Given the description of an element on the screen output the (x, y) to click on. 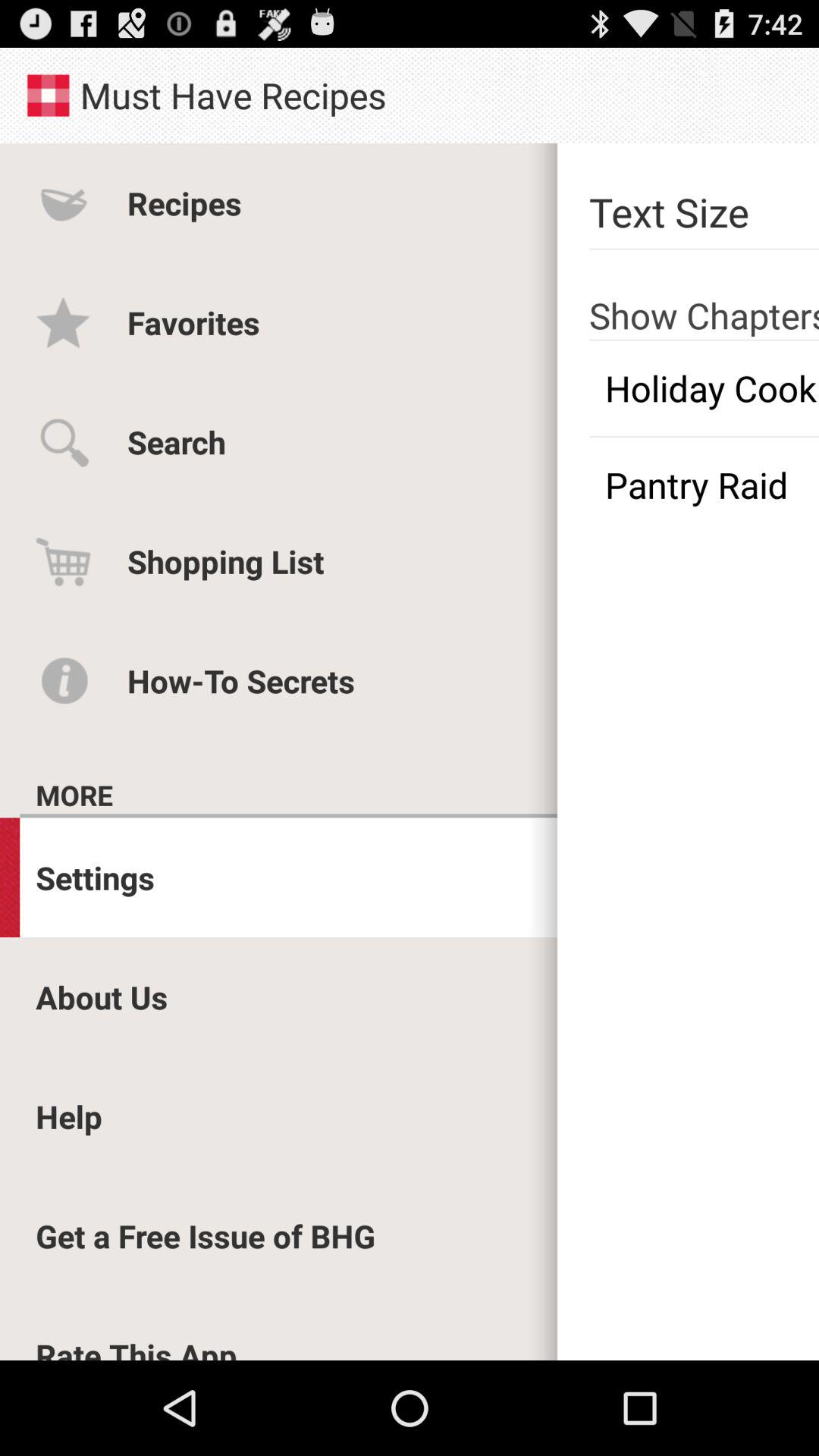
turn on icon to the right of the favorites (704, 294)
